Given the description of an element on the screen output the (x, y) to click on. 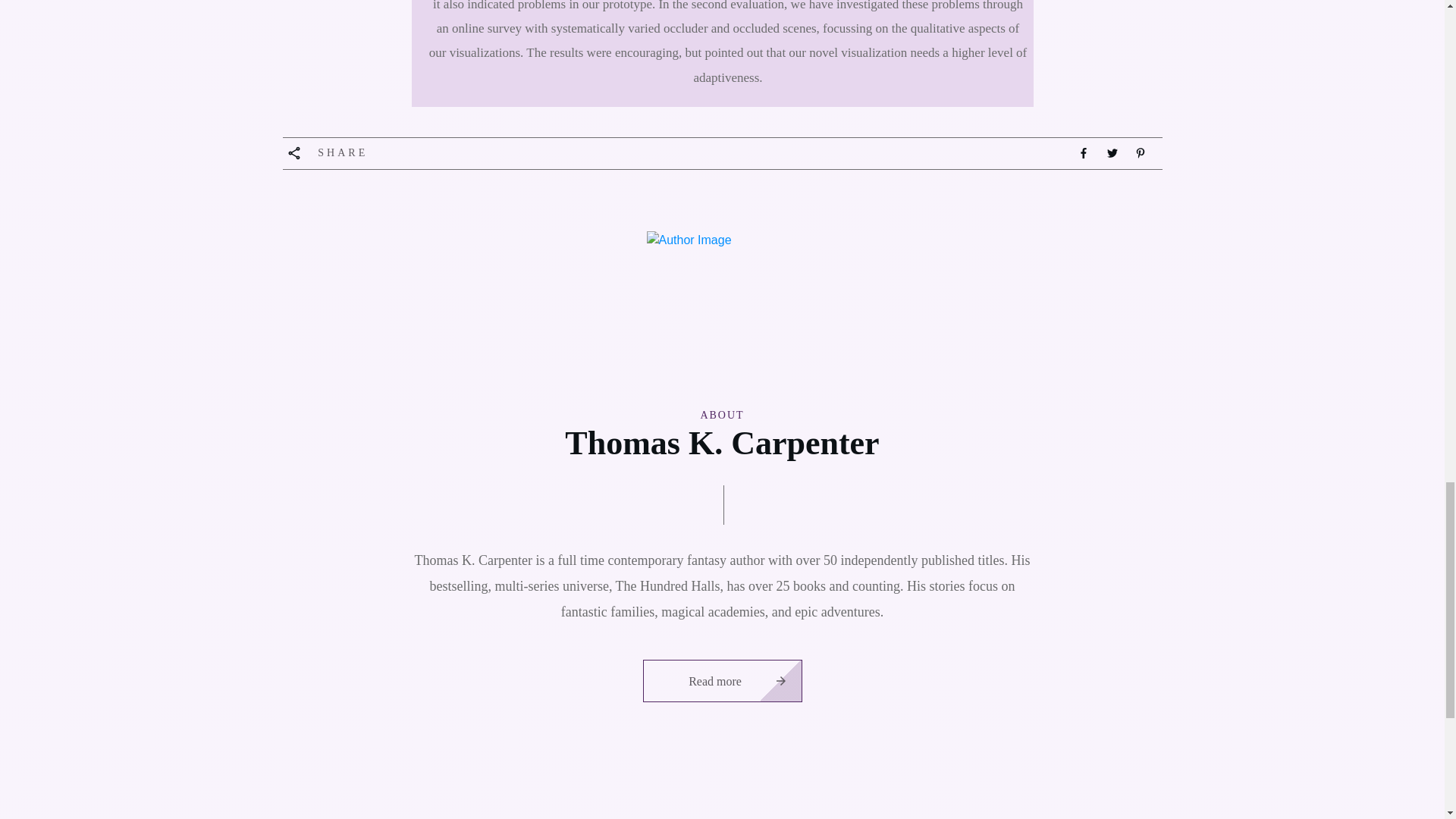
Read more (722, 680)
